Given the description of an element on the screen output the (x, y) to click on. 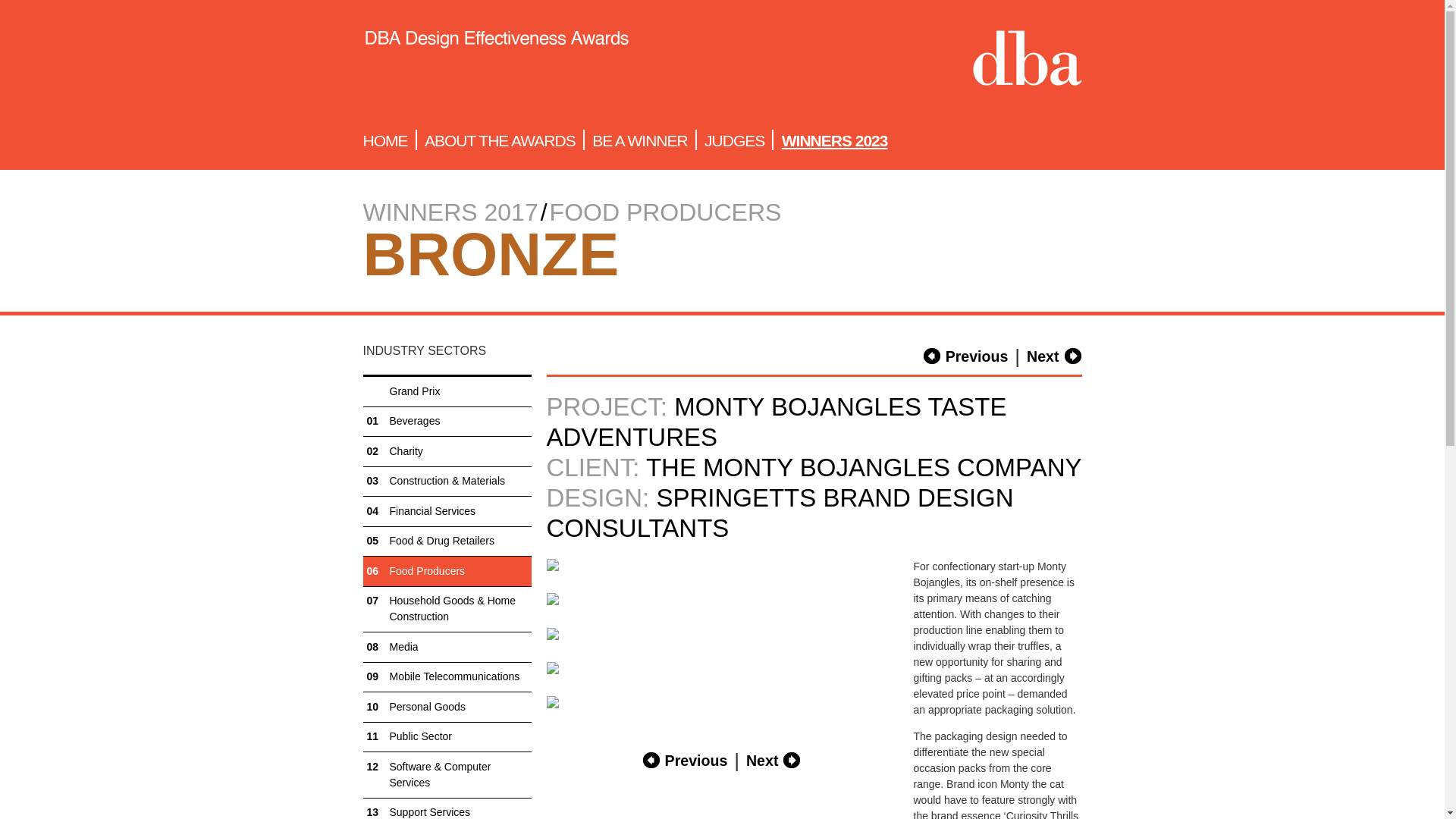
BE A WINNER (639, 139)
ABOUT THE AWARDS (500, 139)
Previous (966, 355)
Next (772, 760)
Home (1026, 61)
Support Services (446, 808)
SPRINGETTS BRAND DESIGN CONSULTANTS (779, 513)
Home (495, 61)
Food Producers (446, 571)
Charity (446, 451)
